Given the description of an element on the screen output the (x, y) to click on. 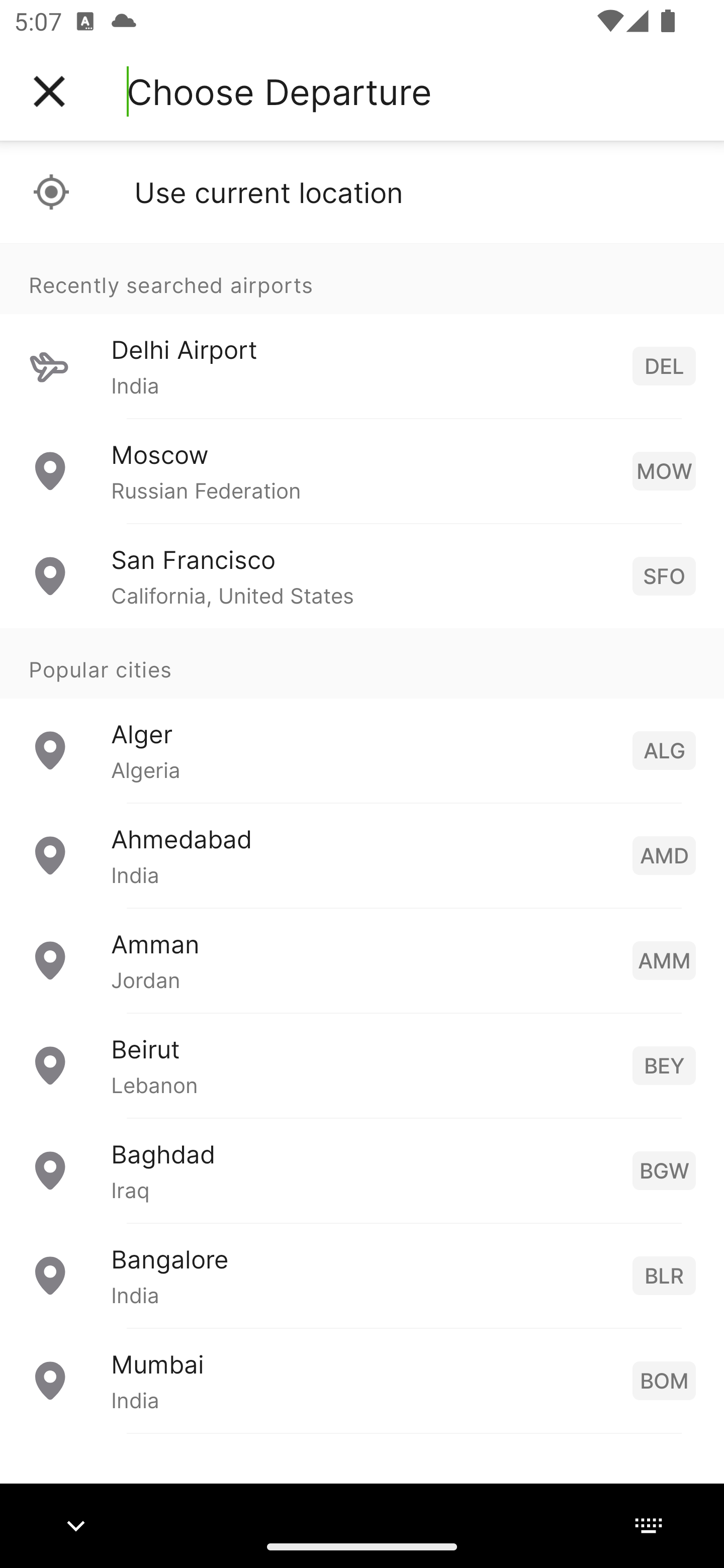
Choose Departure (279, 91)
Use current location (362, 192)
Recently searched airports Delhi Airport India DEL (362, 330)
Recently searched airports (362, 278)
Moscow Russian Federation MOW (362, 470)
San Francisco California, United States SFO (362, 575)
Popular cities Alger Algeria ALG (362, 715)
Popular cities (362, 663)
Ahmedabad India AMD (362, 854)
Amman Jordan AMM (362, 959)
Beirut Lebanon BEY (362, 1064)
Baghdad Iraq BGW (362, 1170)
Bangalore India BLR (362, 1275)
Mumbai India BOM (362, 1380)
